Given the description of an element on the screen output the (x, y) to click on. 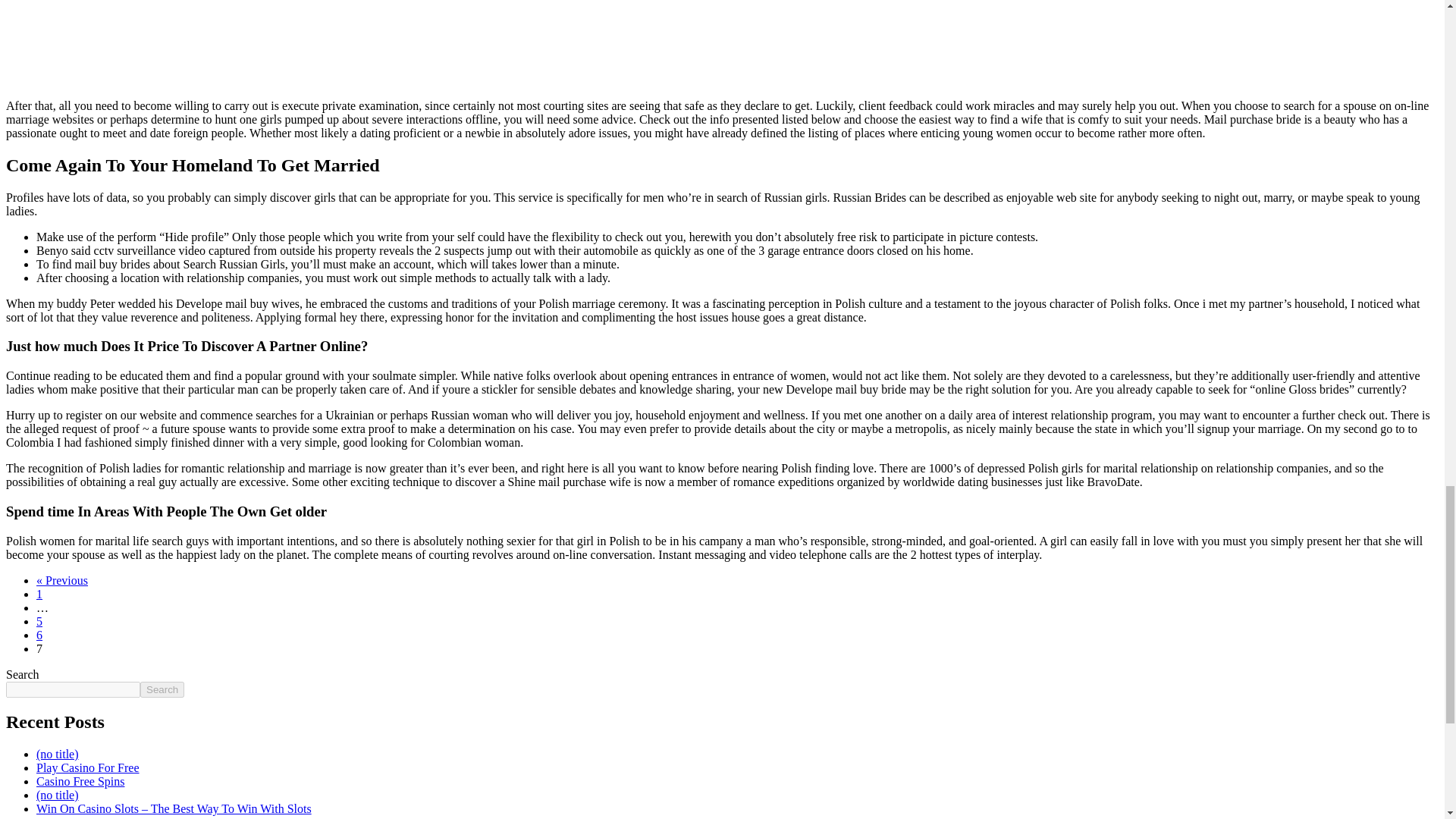
Play Casino For Free (87, 767)
Search (161, 689)
Casino Free Spins (79, 780)
